Given the description of an element on the screen output the (x, y) to click on. 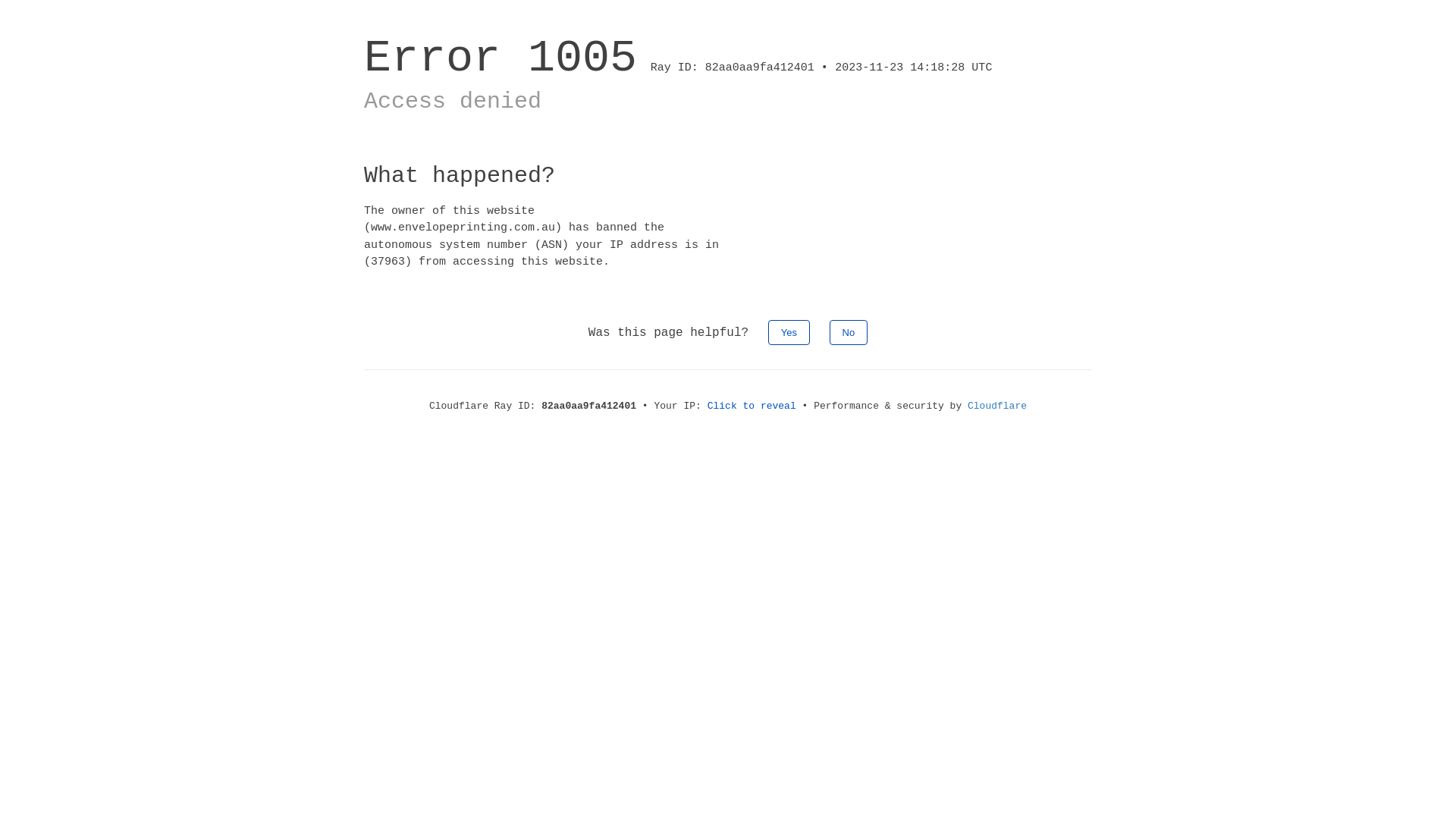
Click to reveal Element type: text (751, 405)
No Element type: text (848, 332)
Cloudflare Element type: text (996, 405)
Yes Element type: text (788, 332)
